Given the description of an element on the screen output the (x, y) to click on. 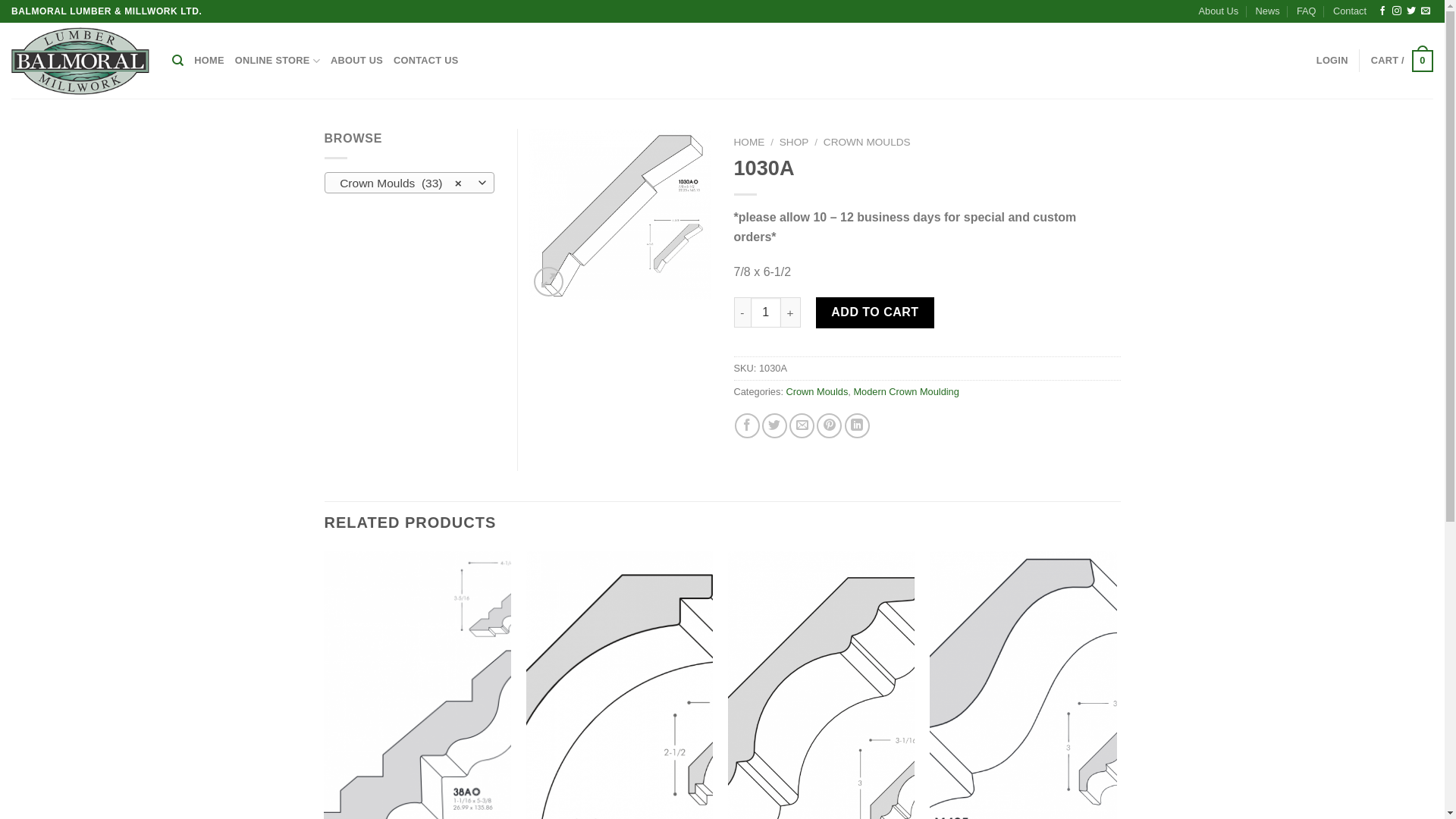
SHOP Element type: text (794, 141)
Share on Twitter Element type: hover (774, 425)
CONTACT US Element type: text (425, 60)
Qty Element type: hover (765, 312)
Follow on Facebook Element type: hover (1381, 11)
Modern Crown Moulding Element type: text (905, 391)
FAQ Element type: text (1306, 11)
ONLINE STORE Element type: text (277, 60)
LOGIN Element type: text (1332, 60)
Pin on Pinterest Element type: hover (828, 425)
About Us Element type: text (1218, 11)
CROWN MOULDS Element type: text (866, 141)
Follow on Twitter Element type: hover (1410, 11)
Share on Facebook Element type: hover (746, 425)
HOME Element type: text (208, 60)
Send us an email Element type: hover (1425, 11)
CART /
0 Element type: text (1402, 61)
ADD TO CART Element type: text (874, 312)
News Element type: text (1267, 11)
HOME Element type: text (749, 141)
1 Element type: hover (620, 213)
Crown Moulds Element type: text (816, 391)
Follow on Instagram Element type: hover (1396, 11)
Share on LinkedIn Element type: hover (856, 425)
ABOUT US Element type: text (356, 60)
Contact Element type: text (1349, 11)
Email to a Friend Element type: hover (801, 425)
Zoom Element type: hover (548, 281)
